Given the description of an element on the screen output the (x, y) to click on. 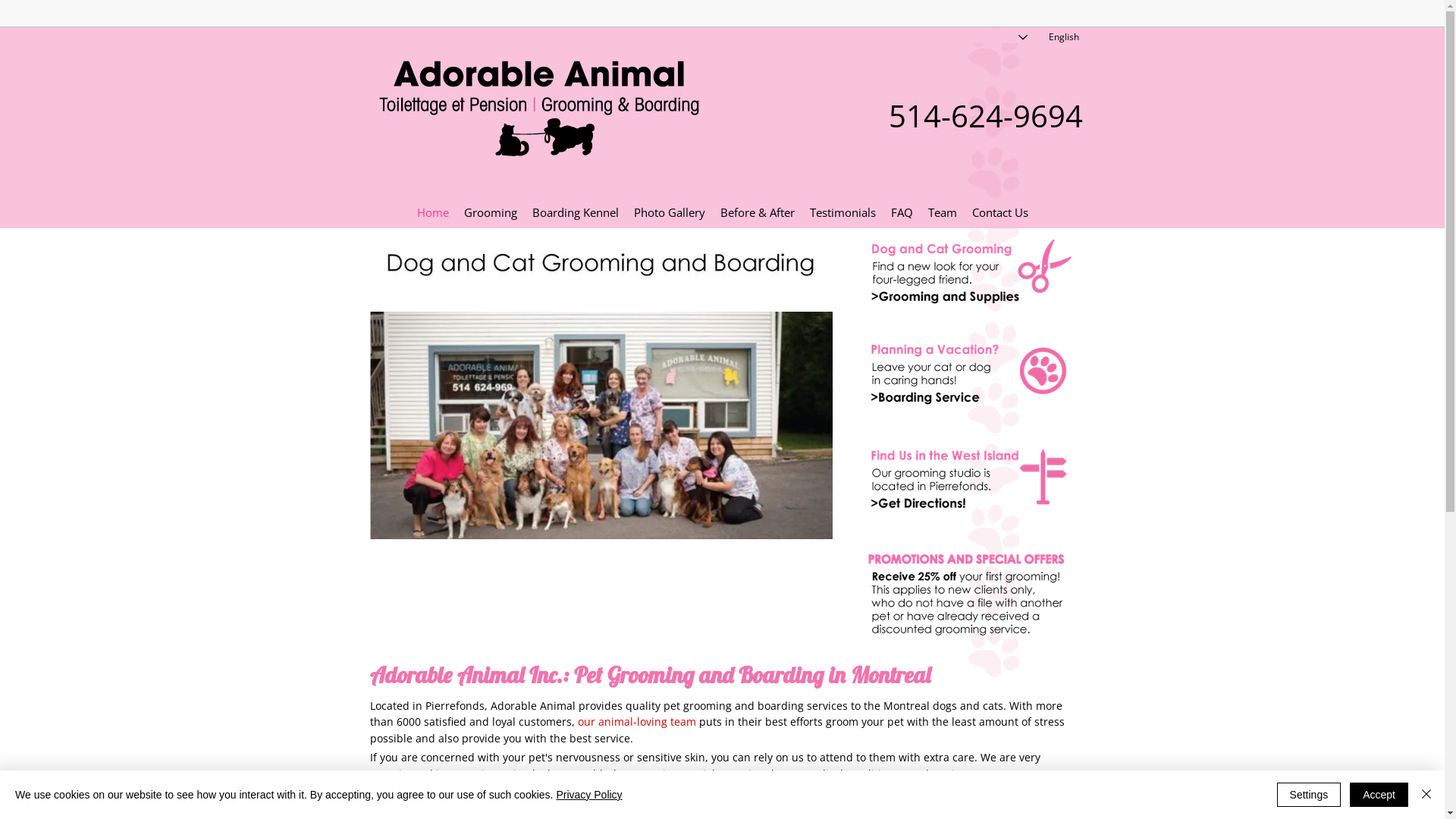
Photo Gallery Element type: text (669, 216)
Contact Us Element type: text (999, 216)
our animal-loving team Element type: text (636, 722)
Privacy Policy Element type: text (588, 794)
Embedded Content Element type: hover (947, 10)
Accept Element type: text (1378, 794)
Home Element type: text (432, 216)
Settings Element type: text (1309, 794)
Testimonials Element type: text (842, 216)
Embedded Content Element type: hover (1067, 16)
Boarding Kennel Element type: text (575, 216)
Grooming Element type: text (490, 216)
Team Element type: text (942, 216)
514-624-9694 Element type: text (985, 124)
Before & After Element type: text (757, 216)
FAQ Element type: text (900, 216)
